Given the description of an element on the screen output the (x, y) to click on. 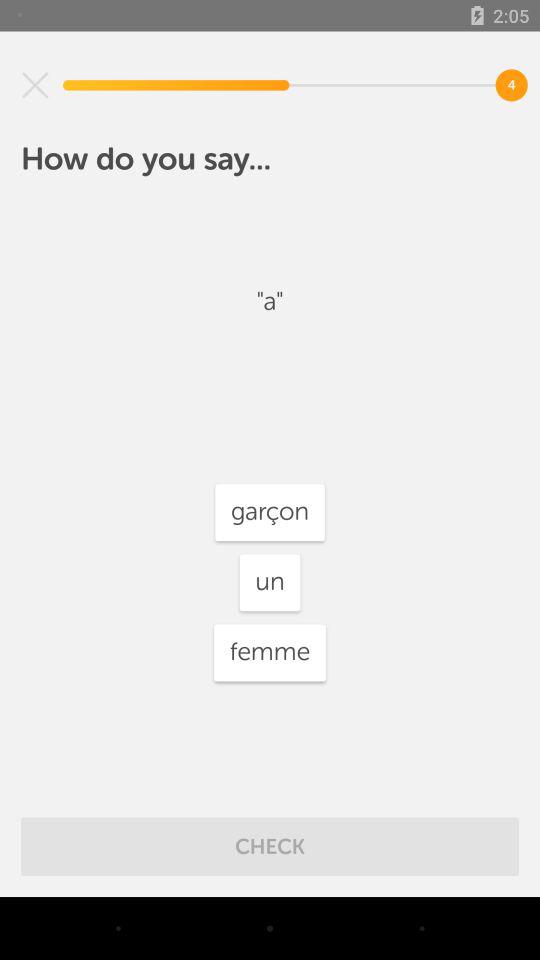
choose icon above the femme icon (269, 582)
